Given the description of an element on the screen output the (x, y) to click on. 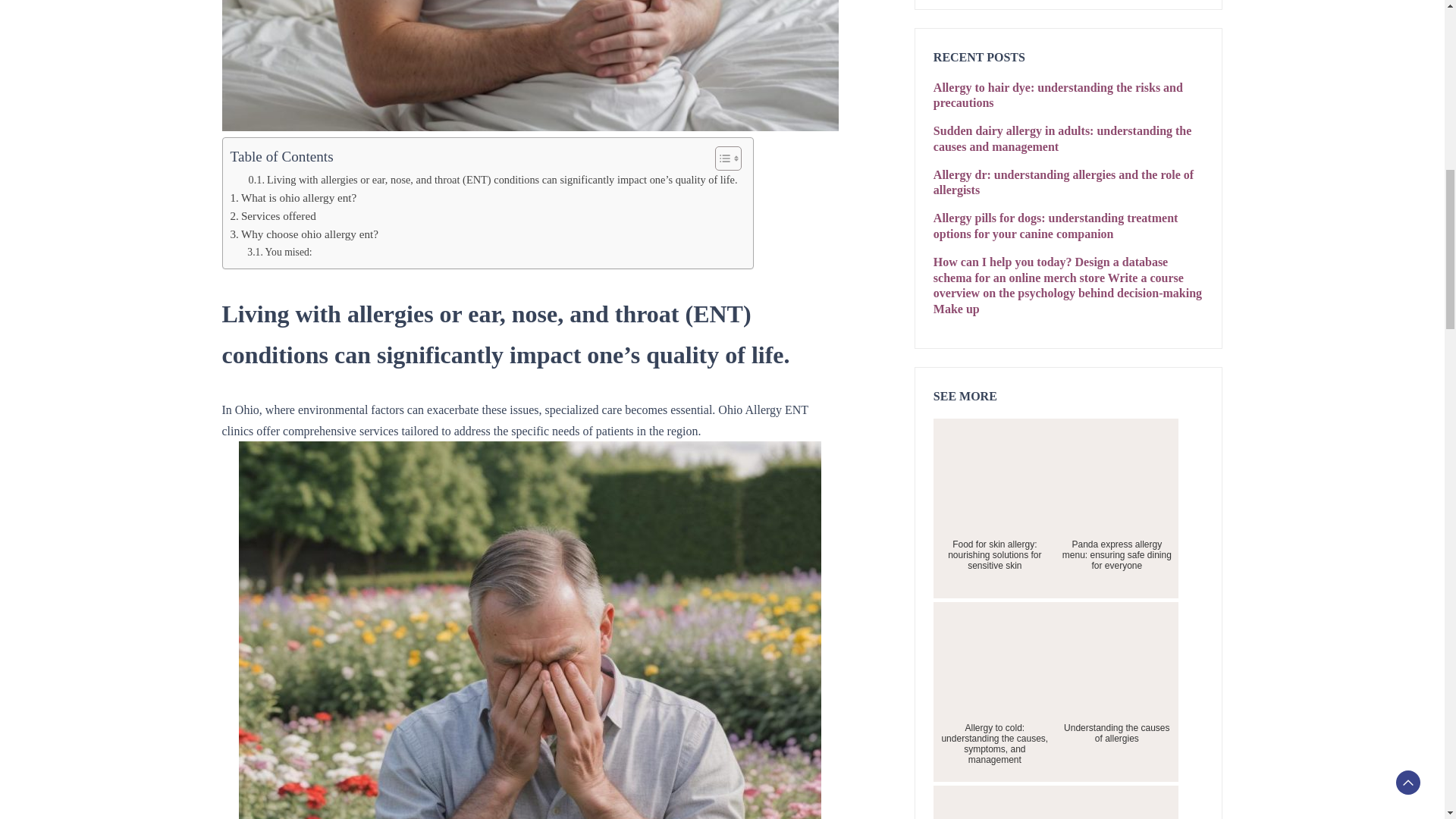
Why choose ohio allergy ent? (304, 234)
Why choose ohio allergy ent? (304, 234)
Services offered (272, 216)
Services offered (272, 216)
What is ohio allergy ent? (293, 198)
You mised: (279, 252)
You mised: (279, 252)
What is ohio allergy ent? (293, 198)
